Given the description of an element on the screen output the (x, y) to click on. 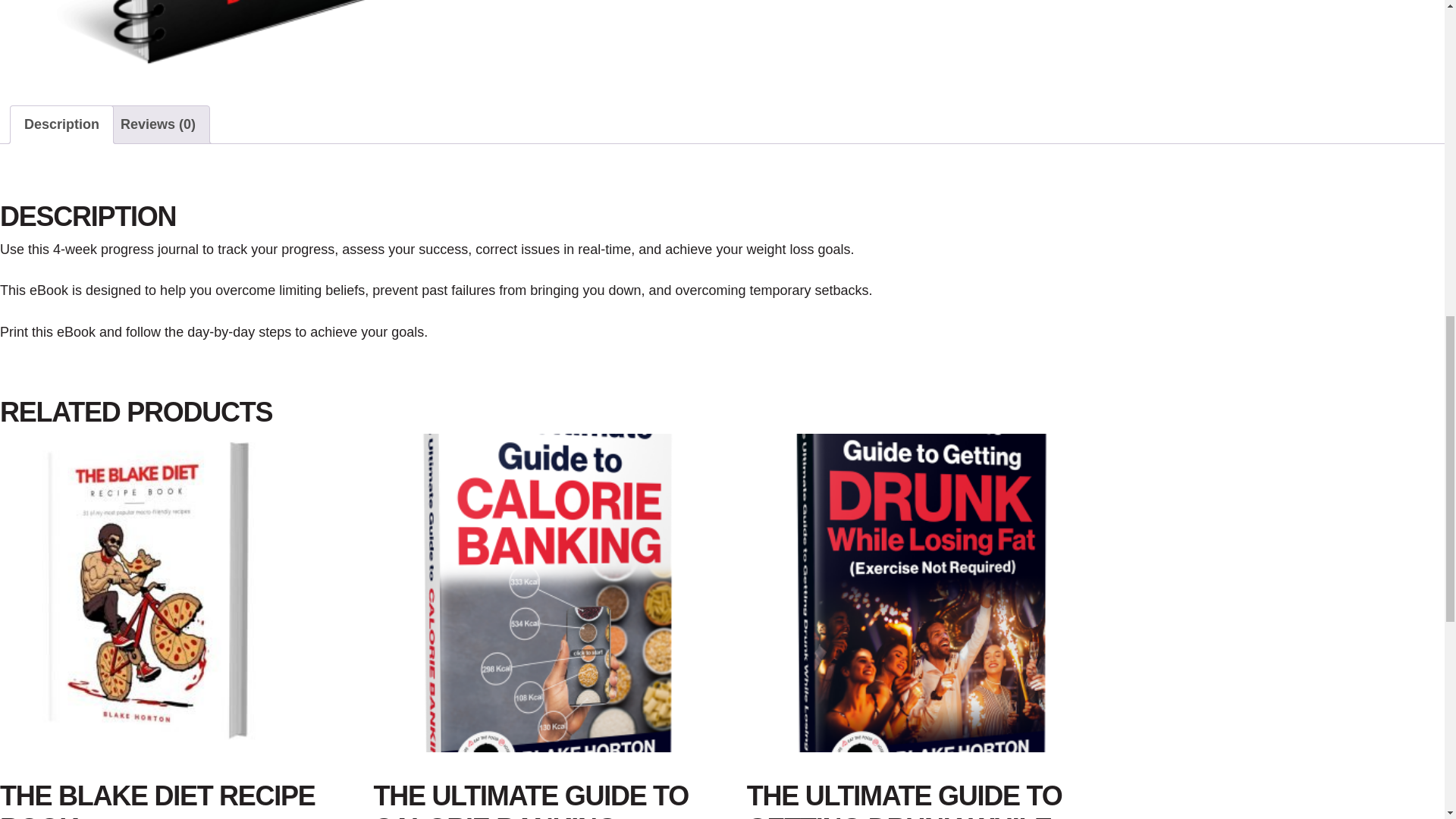
fat-loss-success-journal (346, 38)
